Given the description of an element on the screen output the (x, y) to click on. 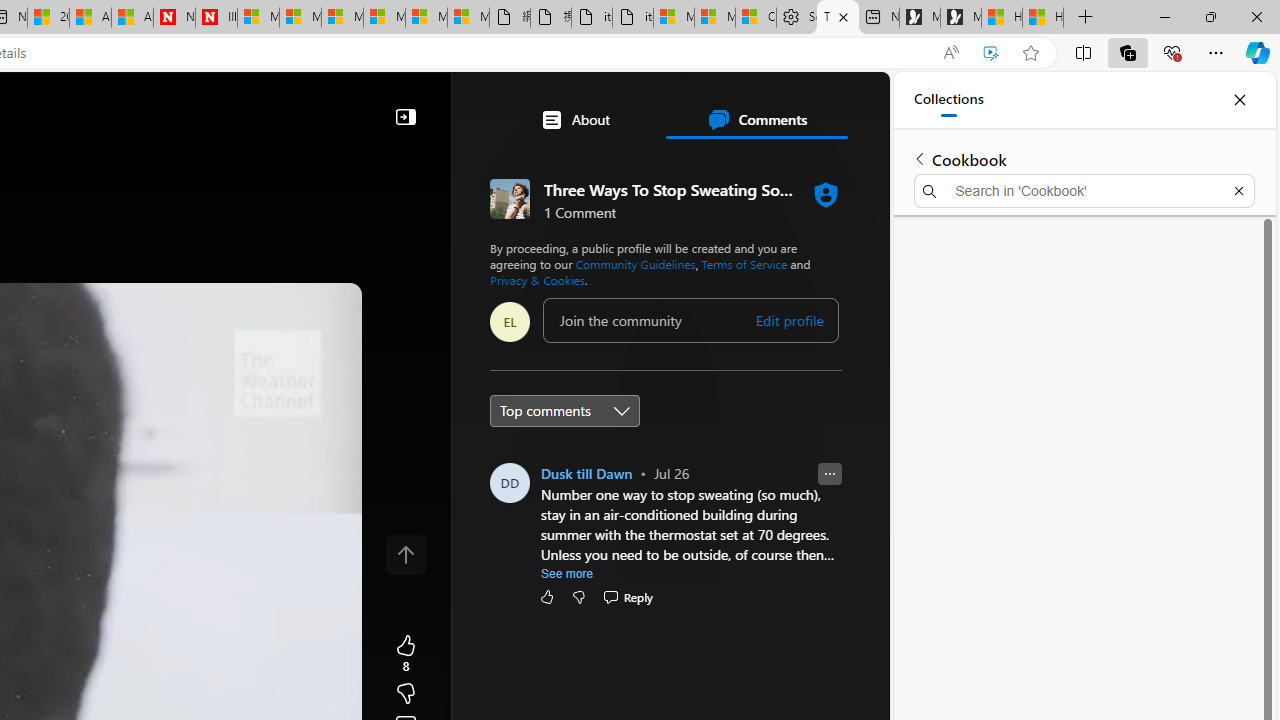
Three Ways To Stop Sweating So Much (837, 17)
Sort comments by (565, 410)
Class: control icon-only (406, 554)
Search in 'Cookbook' (1084, 190)
Back to list of collections (920, 158)
